Given the description of an element on the screen output the (x, y) to click on. 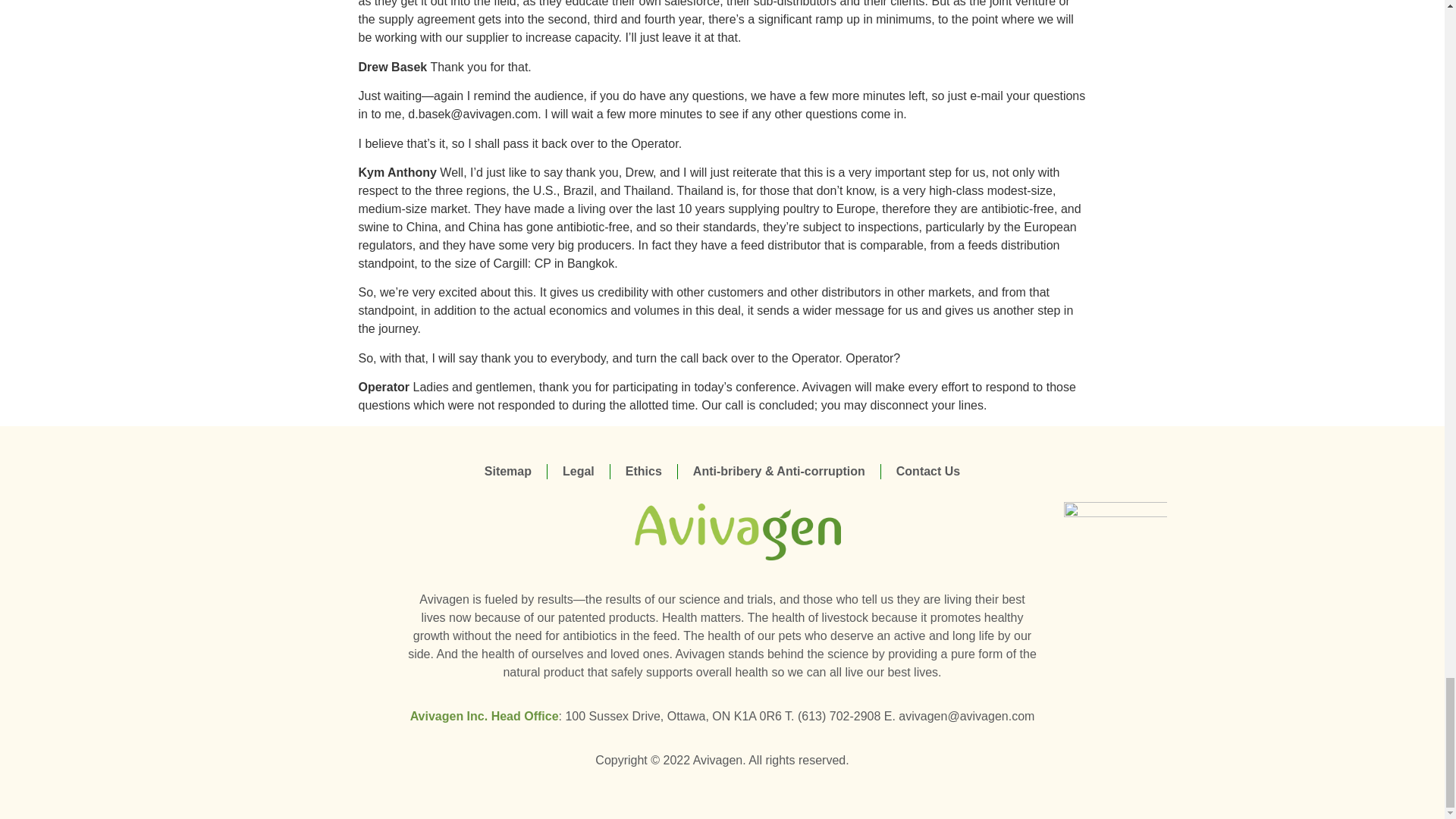
Contact Us (927, 471)
Ethics (644, 471)
Sitemap (507, 471)
Legal (578, 471)
